Given the description of an element on the screen output the (x, y) to click on. 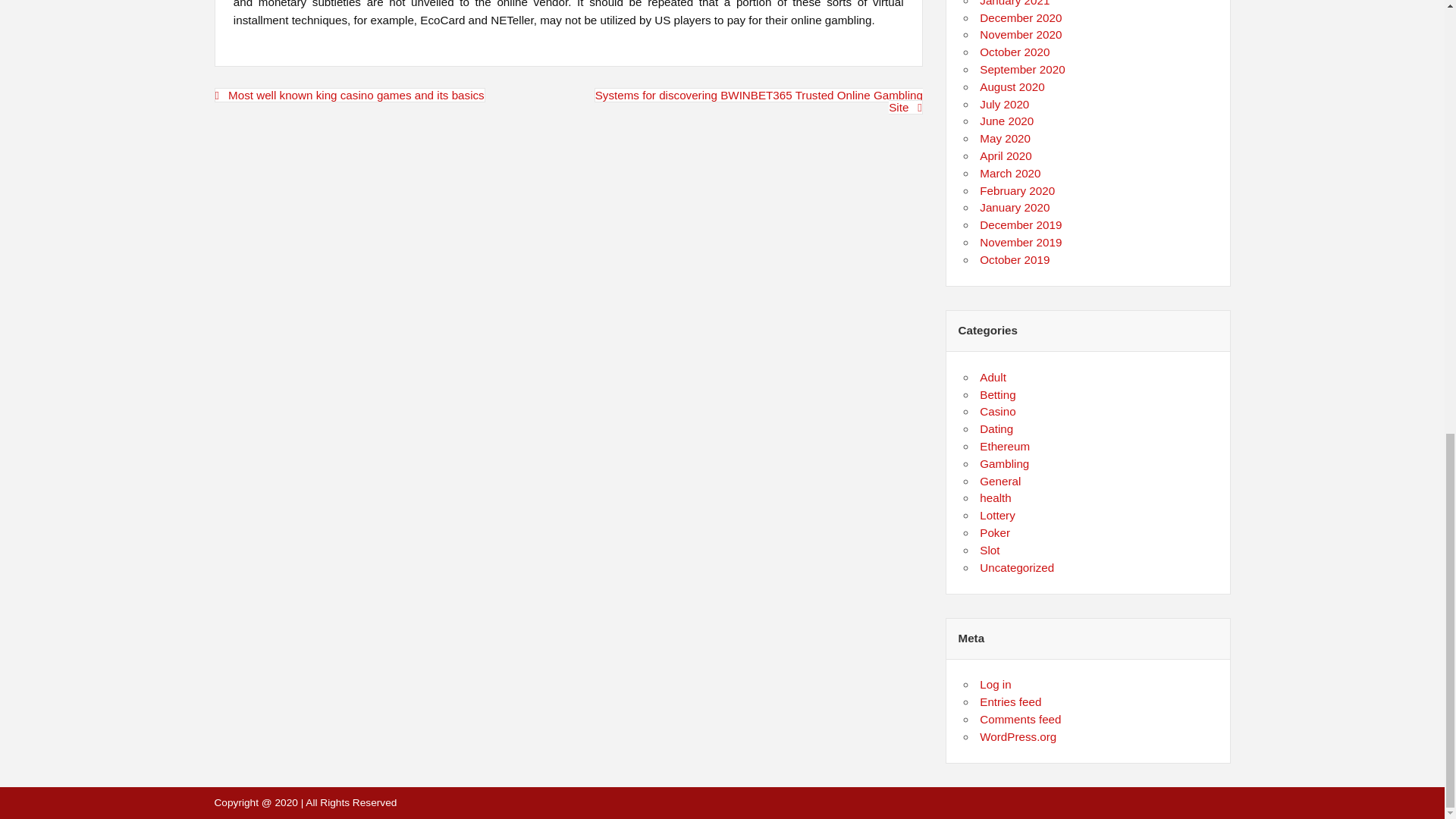
Most well known king casino games and its basics (349, 94)
